Given the description of an element on the screen output the (x, y) to click on. 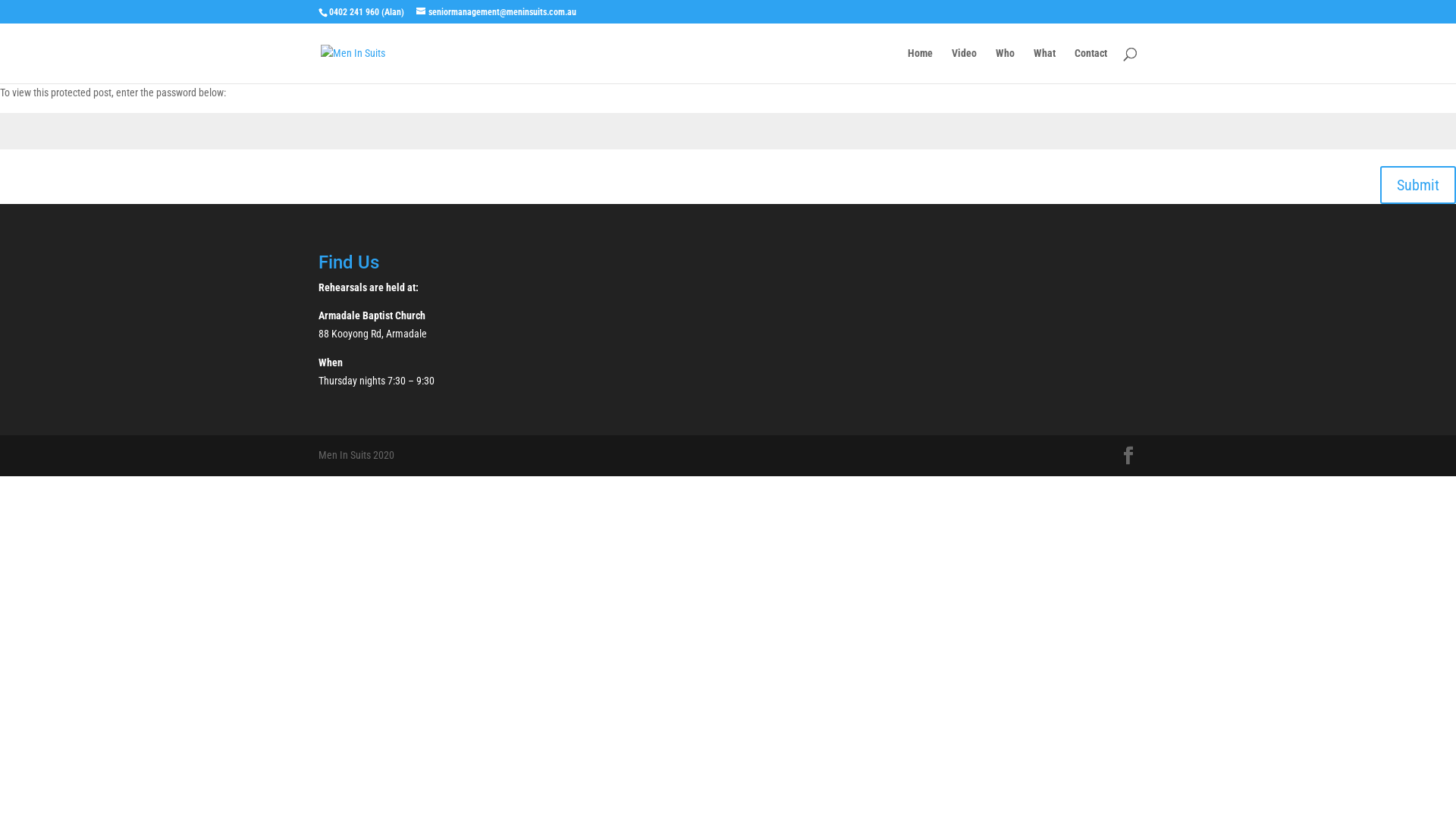
Who Element type: text (1004, 65)
Contact Element type: text (1090, 65)
What Element type: text (1044, 65)
Video Element type: text (963, 65)
Home Element type: text (919, 65)
seniormanagement@meninsuits.com.au Element type: text (496, 11)
